Given the description of an element on the screen output the (x, y) to click on. 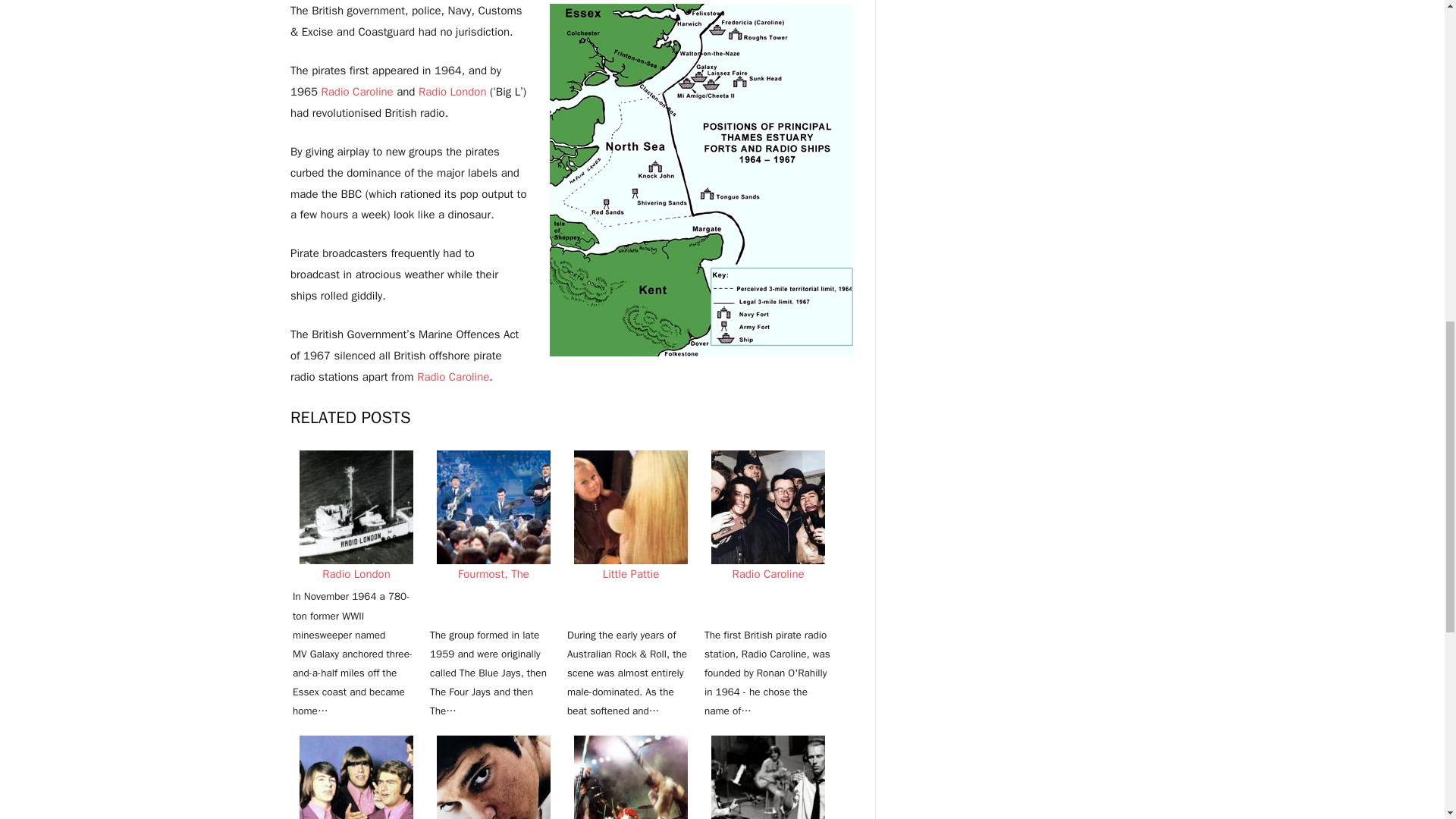
Radio Caroline (356, 91)
Radio London (452, 91)
Radio Caroline (452, 377)
